Given the description of an element on the screen output the (x, y) to click on. 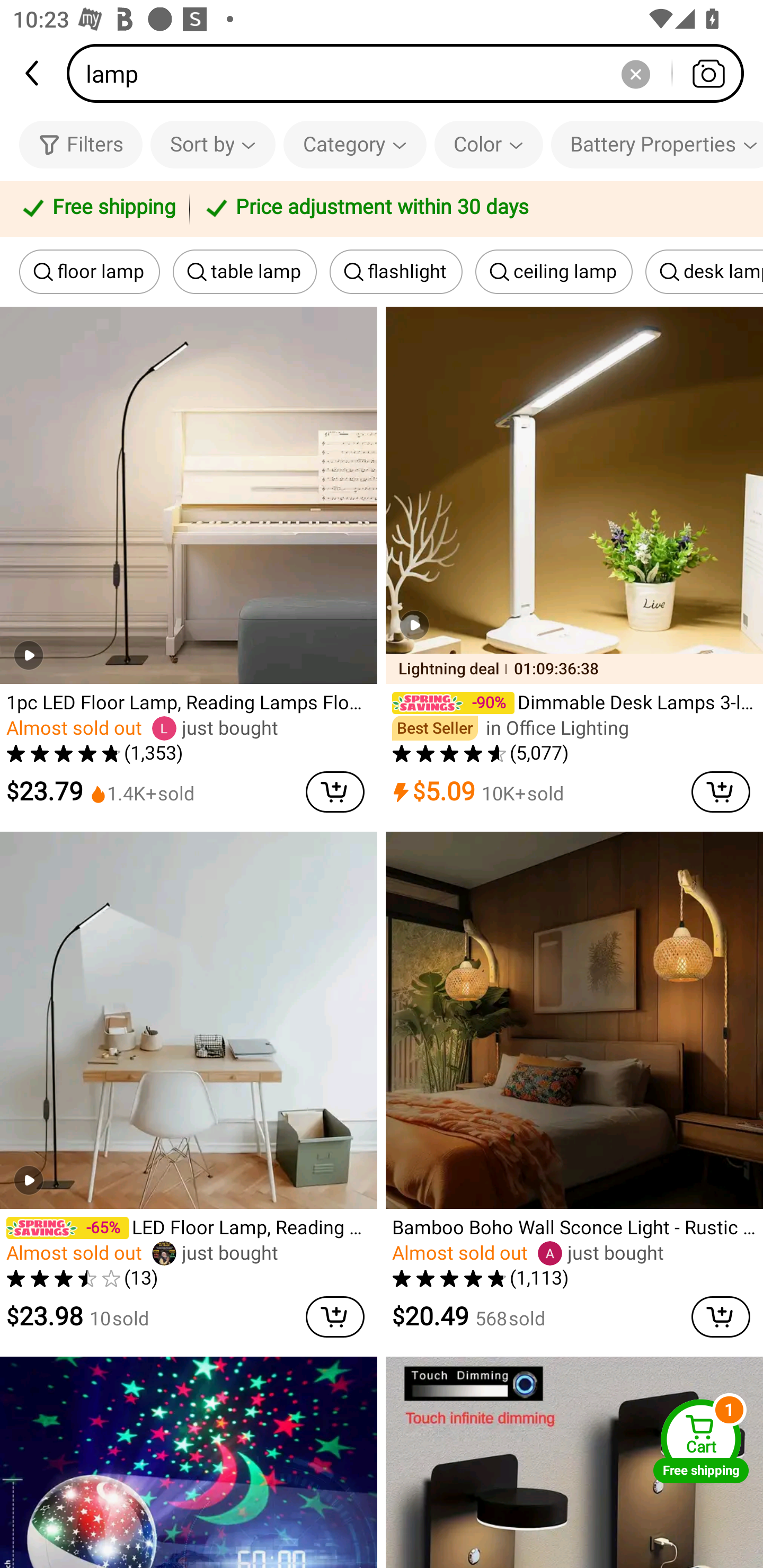
back (33, 72)
lamp (411, 73)
Delete search history (635, 73)
Search by photo (708, 73)
Filters (80, 143)
Sort by (212, 143)
Category (354, 143)
Color (488, 143)
Battery Properties (656, 143)
Free shipping (97, 208)
Price adjustment within 30 days (472, 208)
floor lamp (89, 271)
table lamp (244, 271)
flashlight (395, 271)
ceiling lamp (553, 271)
desk lamp (704, 271)
cart delete (334, 791)
cart delete (720, 791)
cart delete (334, 1316)
cart delete (720, 1316)
Cart Free shipping Cart (701, 1440)
